Given the description of an element on the screen output the (x, y) to click on. 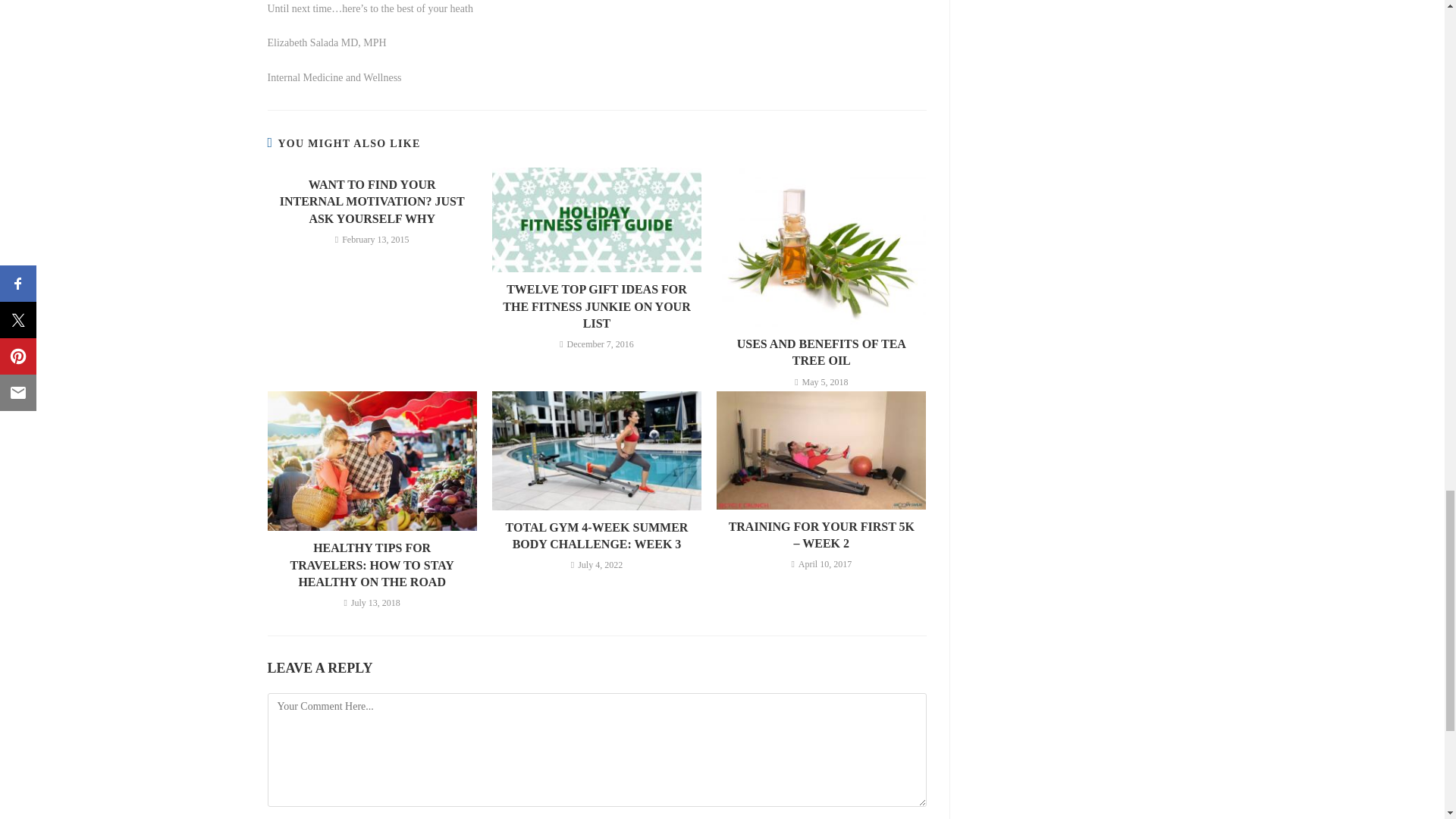
HEALTHY TIPS FOR TRAVELERS: HOW TO STAY HEALTHY ON THE ROAD (371, 564)
TOTAL GYM 4-WEEK SUMMER BODY CHALLENGE: WEEK 3 (596, 536)
TWELVE TOP GIFT IDEAS FOR THE FITNESS JUNKIE ON YOUR LIST (596, 306)
WANT TO FIND YOUR INTERNAL MOTIVATION? JUST ASK YOURSELF WHY (371, 201)
Healthy Tips for Travelers: How to Stay Healthy on the Road (371, 564)
Uses and Benefits of Tea Tree Oil (821, 352)
USES AND BENEFITS OF TEA TREE OIL (821, 352)
TOTAL GYM 4-WEEK SUMMER BODY CHALLENGE: WEEK 3 (596, 536)
Want to Find Your Internal Motivation? Just Ask Yourself Why (371, 201)
Twelve Top Gift Ideas for the Fitness Junkie on your List (596, 306)
